Given the description of an element on the screen output the (x, y) to click on. 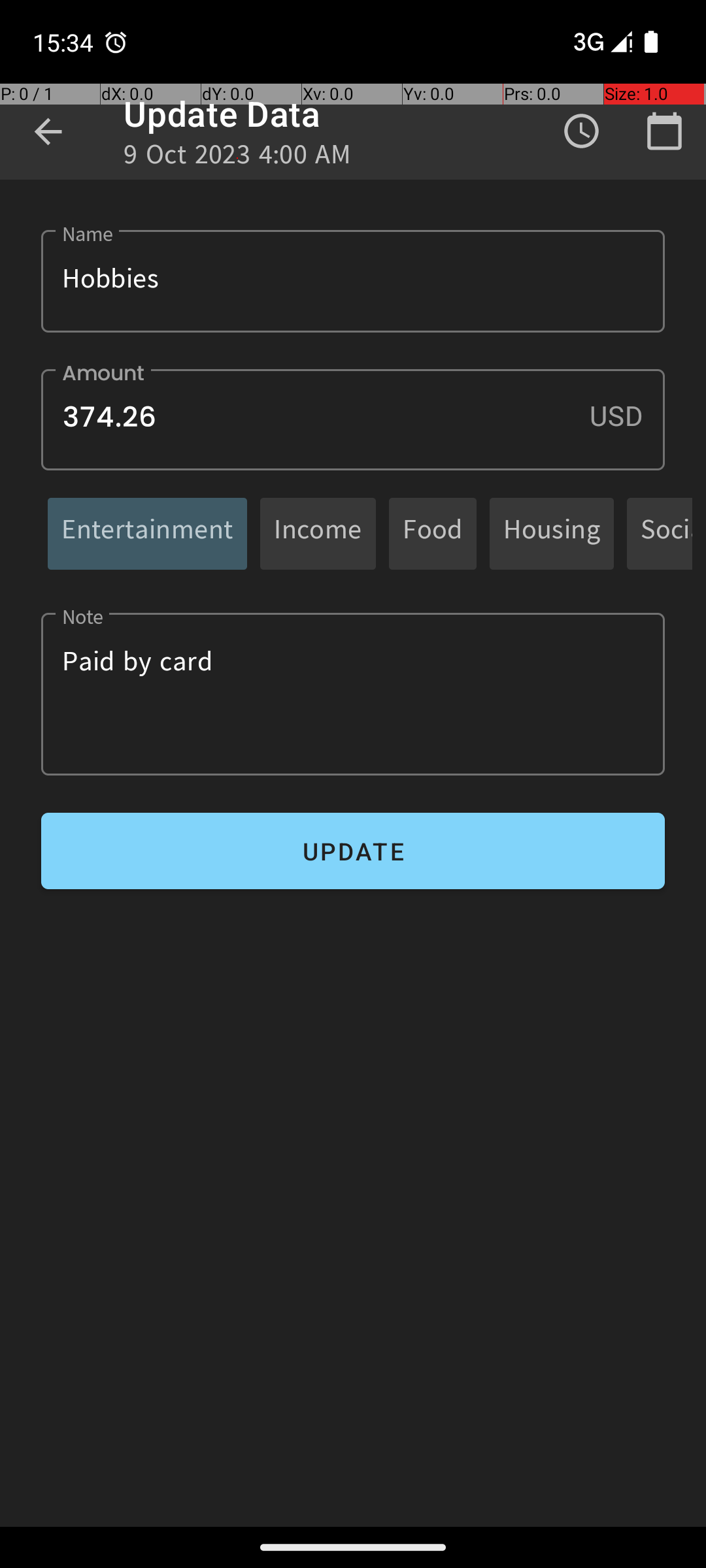
9 Oct 2023 4:00 AM Element type: android.widget.TextView (237, 157)
Hobbies Element type: android.widget.EditText (352, 280)
374.26 Element type: android.widget.EditText (352, 419)
